Given the description of an element on the screen output the (x, y) to click on. 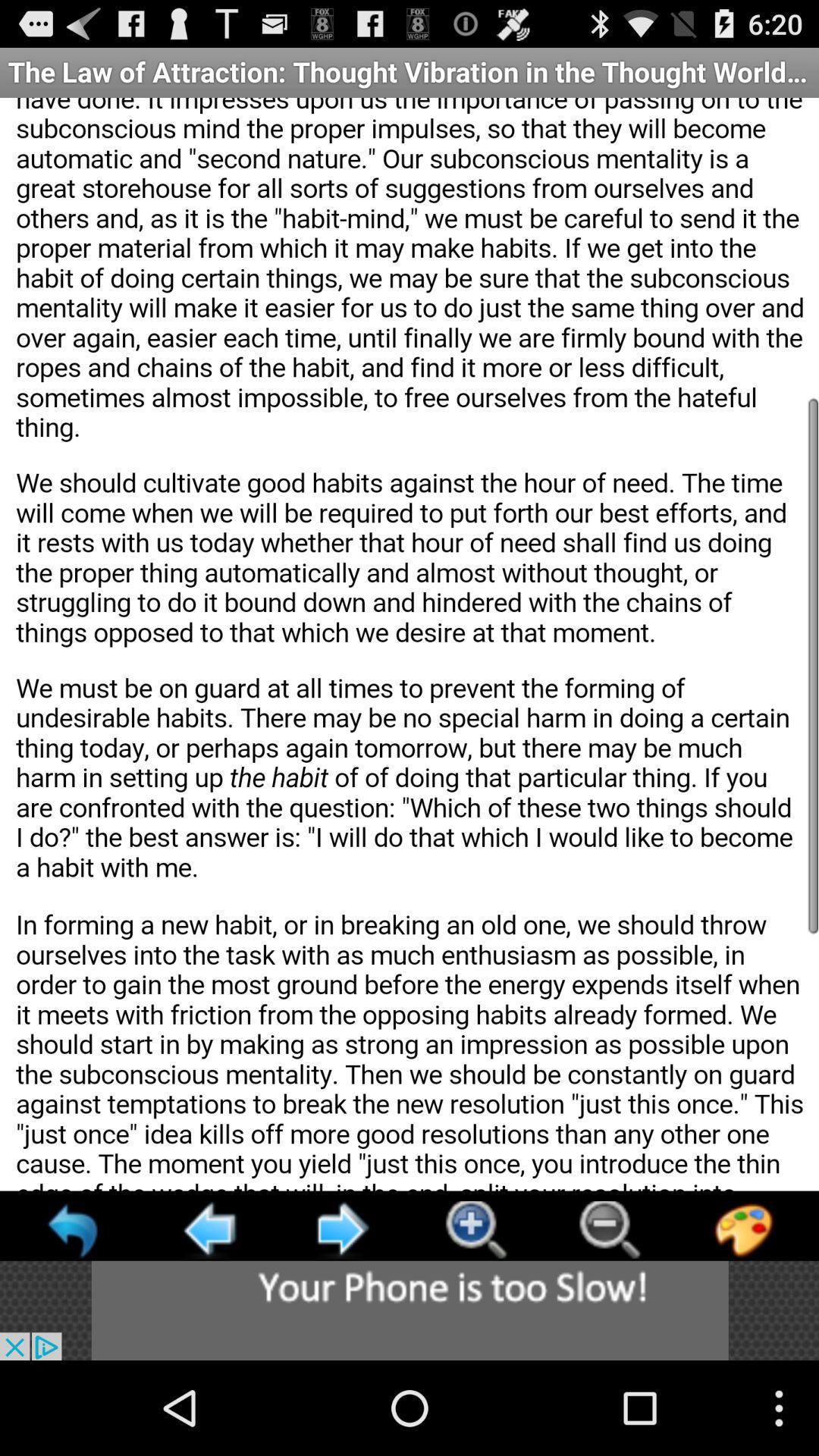
zoom (475, 1229)
